Given the description of an element on the screen output the (x, y) to click on. 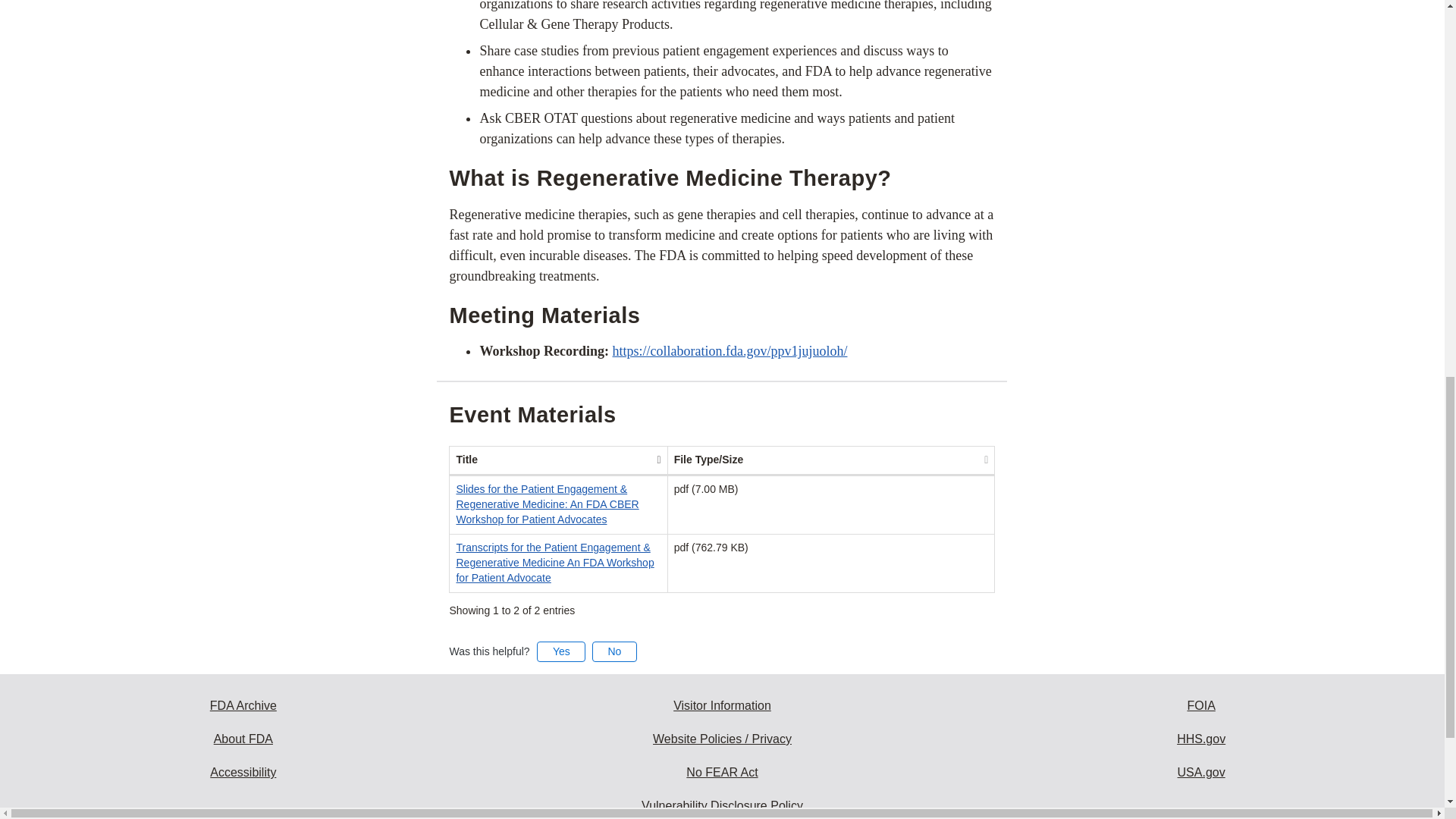
Health and Human Services (1200, 738)
Freedom of Information Act (1200, 705)
Yes (561, 651)
No (614, 651)
